Given the description of an element on the screen output the (x, y) to click on. 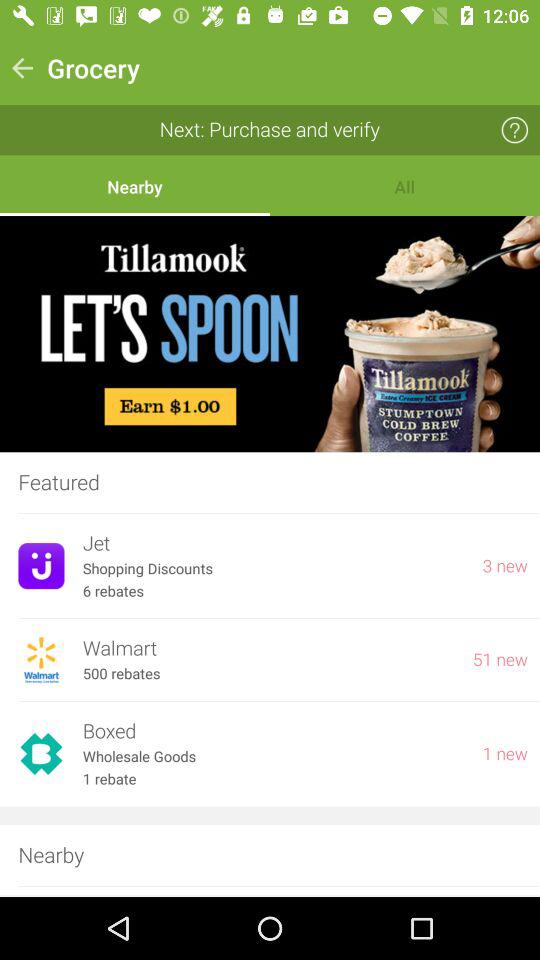
turn on the jet item (273, 543)
